Given the description of an element on the screen output the (x, y) to click on. 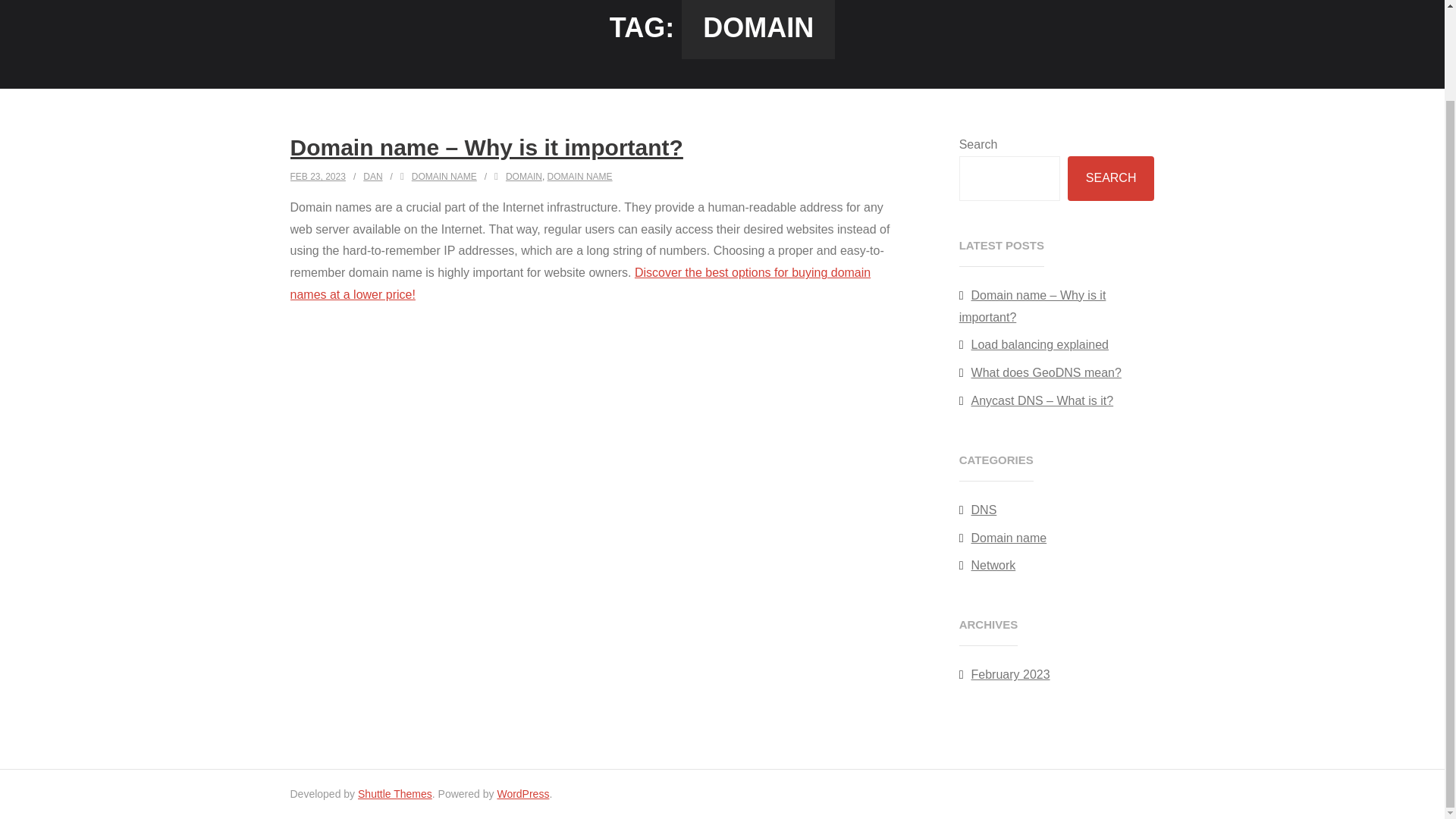
What does GeoDNS mean? (1040, 373)
DNS (978, 510)
FEB 23, 2023 (317, 176)
WordPress (522, 793)
DAN (371, 176)
SEARCH (1110, 178)
Load balancing explained (1033, 345)
Network (987, 565)
Shuttle Themes (395, 793)
February 2023 (1004, 674)
DOMAIN NAME (444, 176)
View all posts by Dan (371, 176)
DOMAIN NAME (579, 176)
Domain name (1002, 538)
